Given the description of an element on the screen output the (x, y) to click on. 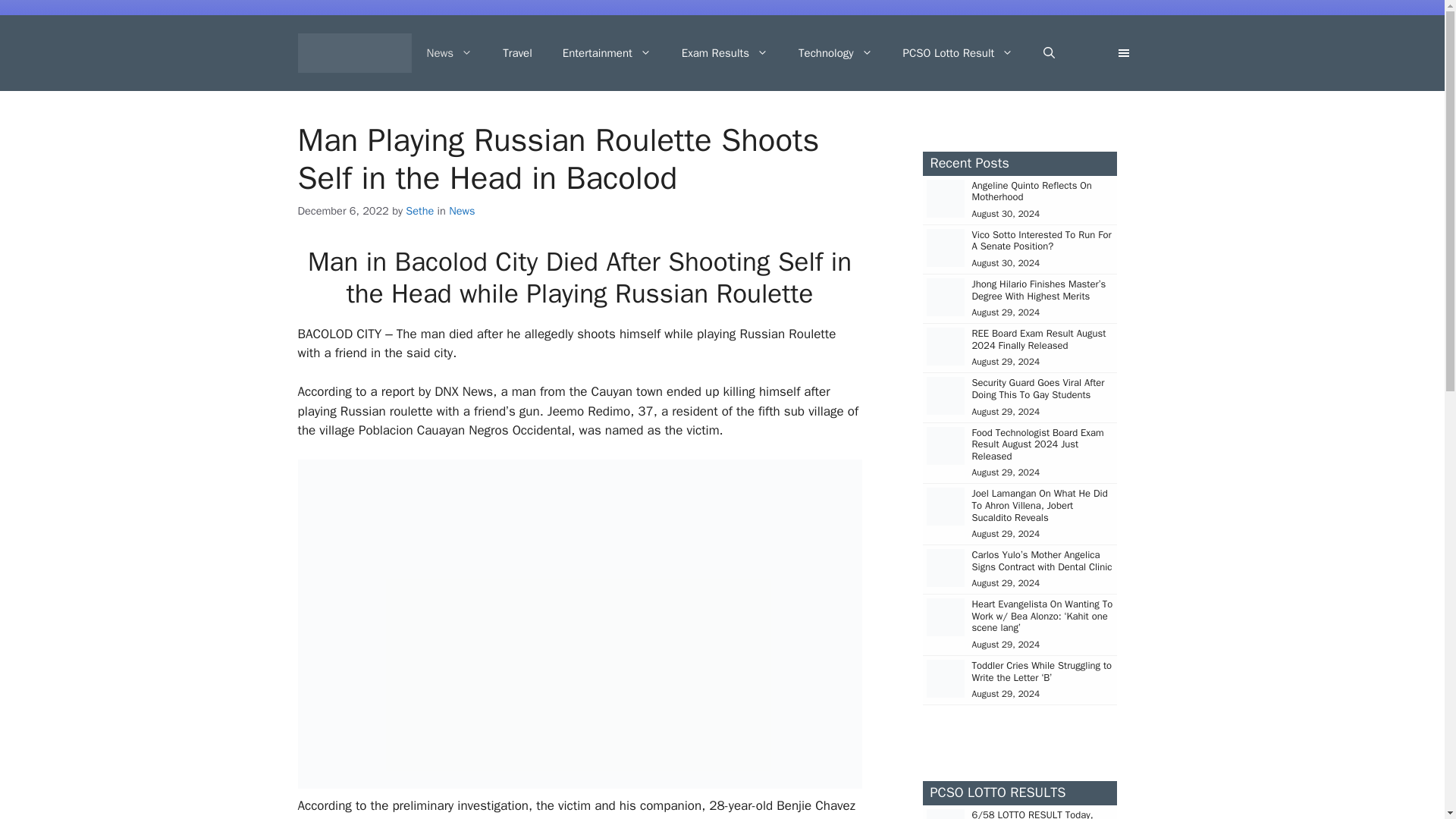
Exam Results (724, 53)
Entertainment (606, 53)
Travel (517, 53)
View all posts by Sethe (419, 210)
News (448, 53)
